Given the description of an element on the screen output the (x, y) to click on. 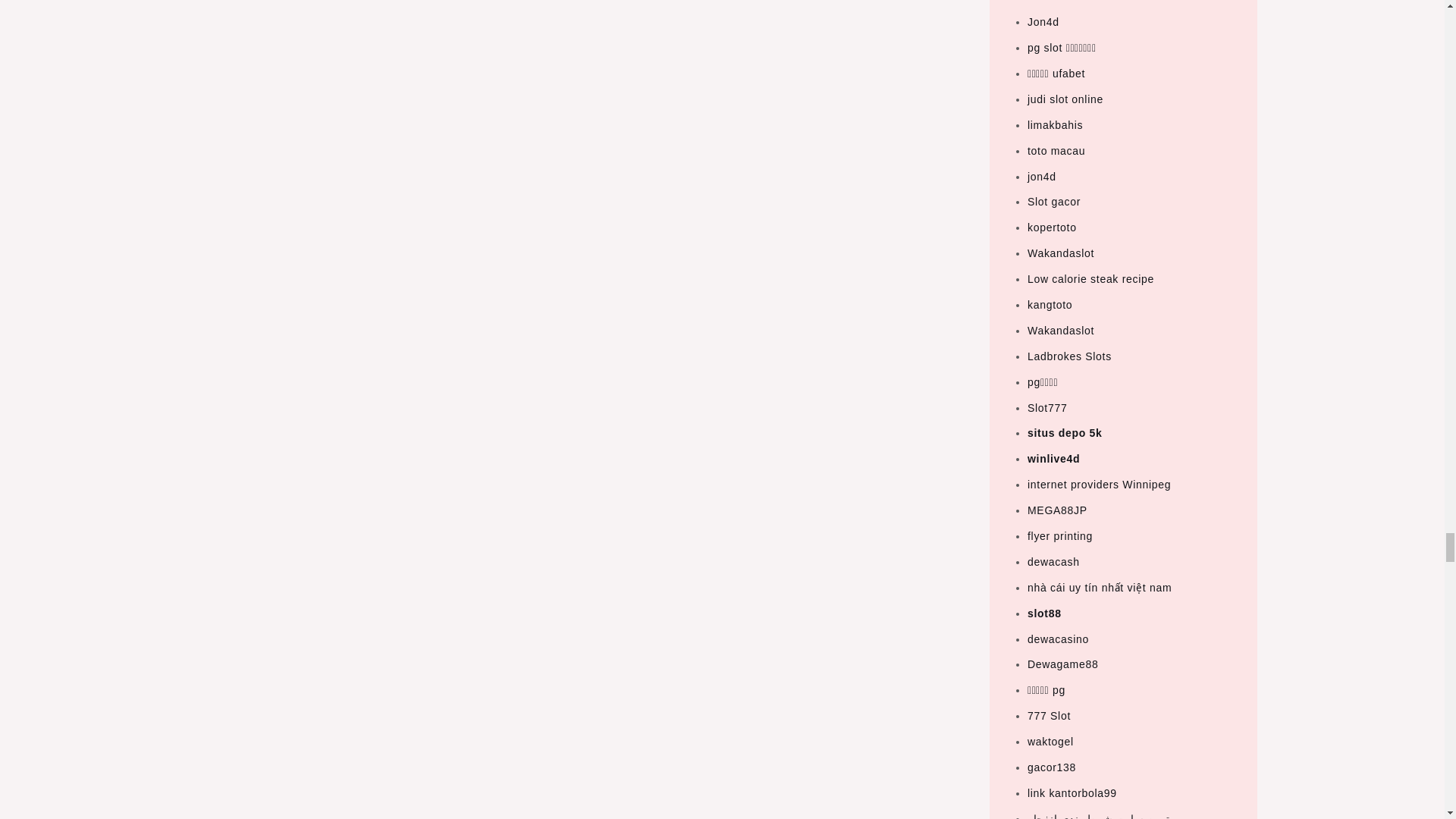
limakbahis (1055, 124)
